Given the description of an element on the screen output the (x, y) to click on. 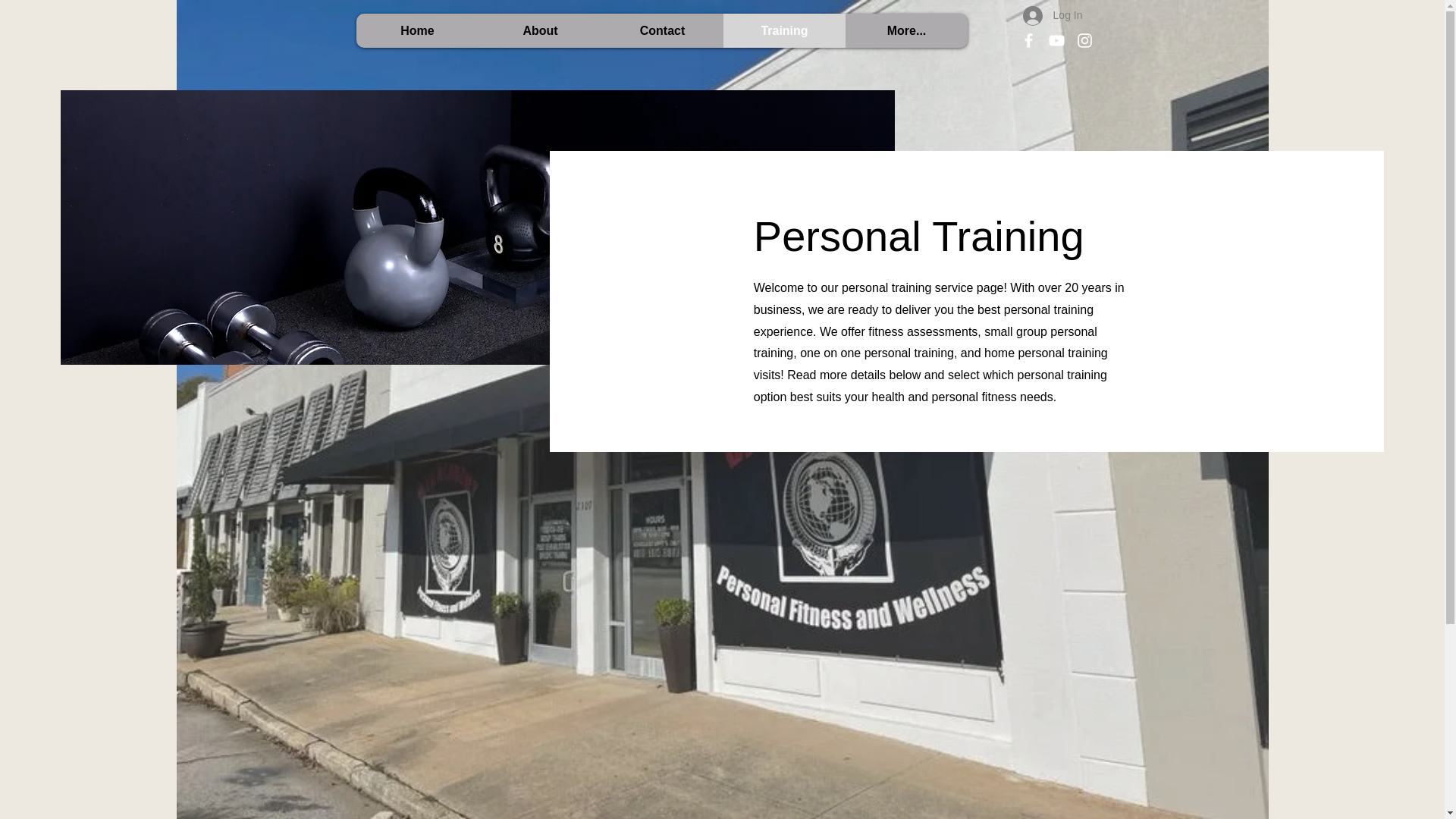
Training (784, 30)
Log In (1052, 15)
Contact (660, 30)
About (540, 30)
Home (417, 30)
